Given the description of an element on the screen output the (x, y) to click on. 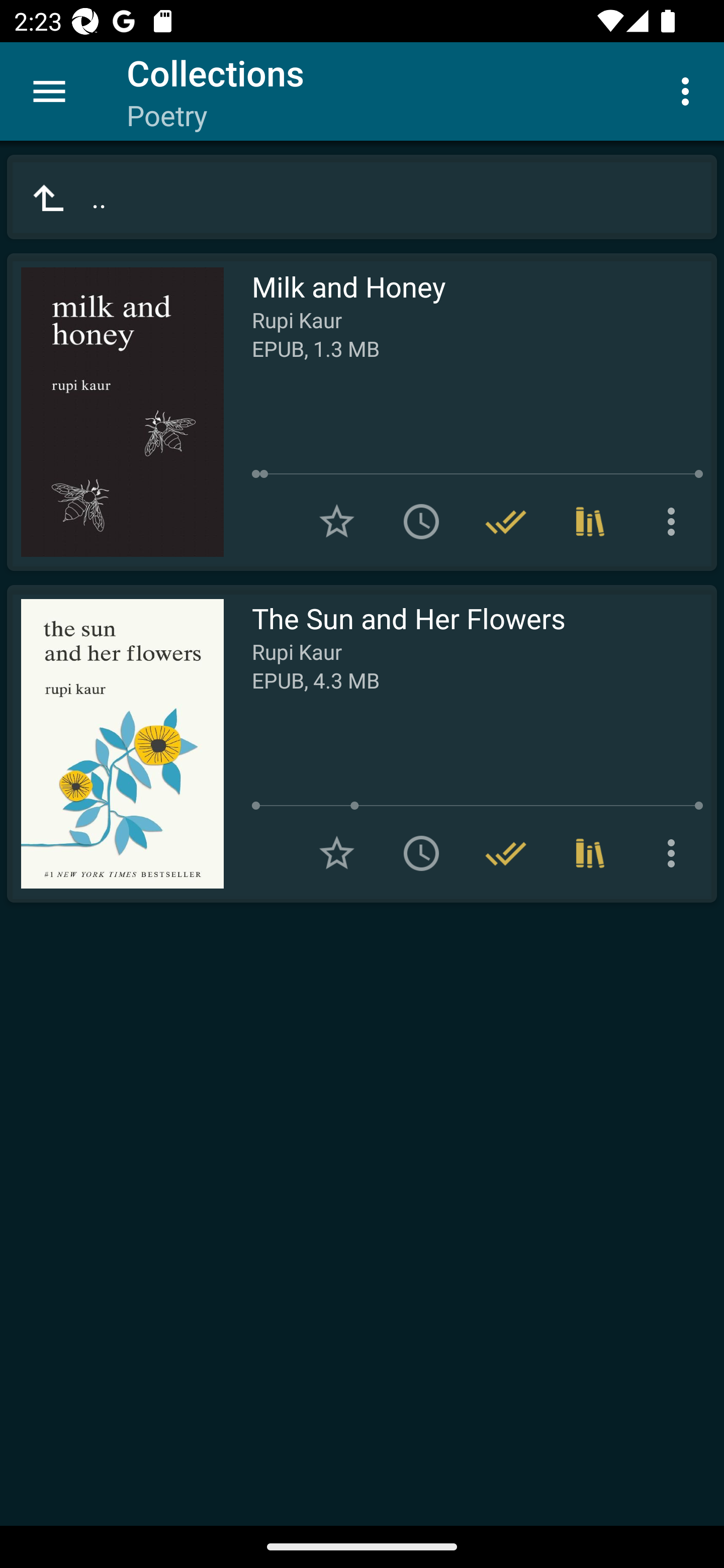
Menu (49, 91)
More options (688, 90)
.. (361, 197)
Read Milk and Honey (115, 412)
Add to Favorites (336, 521)
Add to To read (421, 521)
Remove from Have read (505, 521)
Collections (4) (590, 521)
More options (674, 521)
Read The Sun and Her Flowers (115, 743)
Add to Favorites (336, 852)
Add to To read (421, 852)
Remove from Have read (505, 852)
Collections (1) (590, 852)
More options (674, 852)
